Given the description of an element on the screen output the (x, y) to click on. 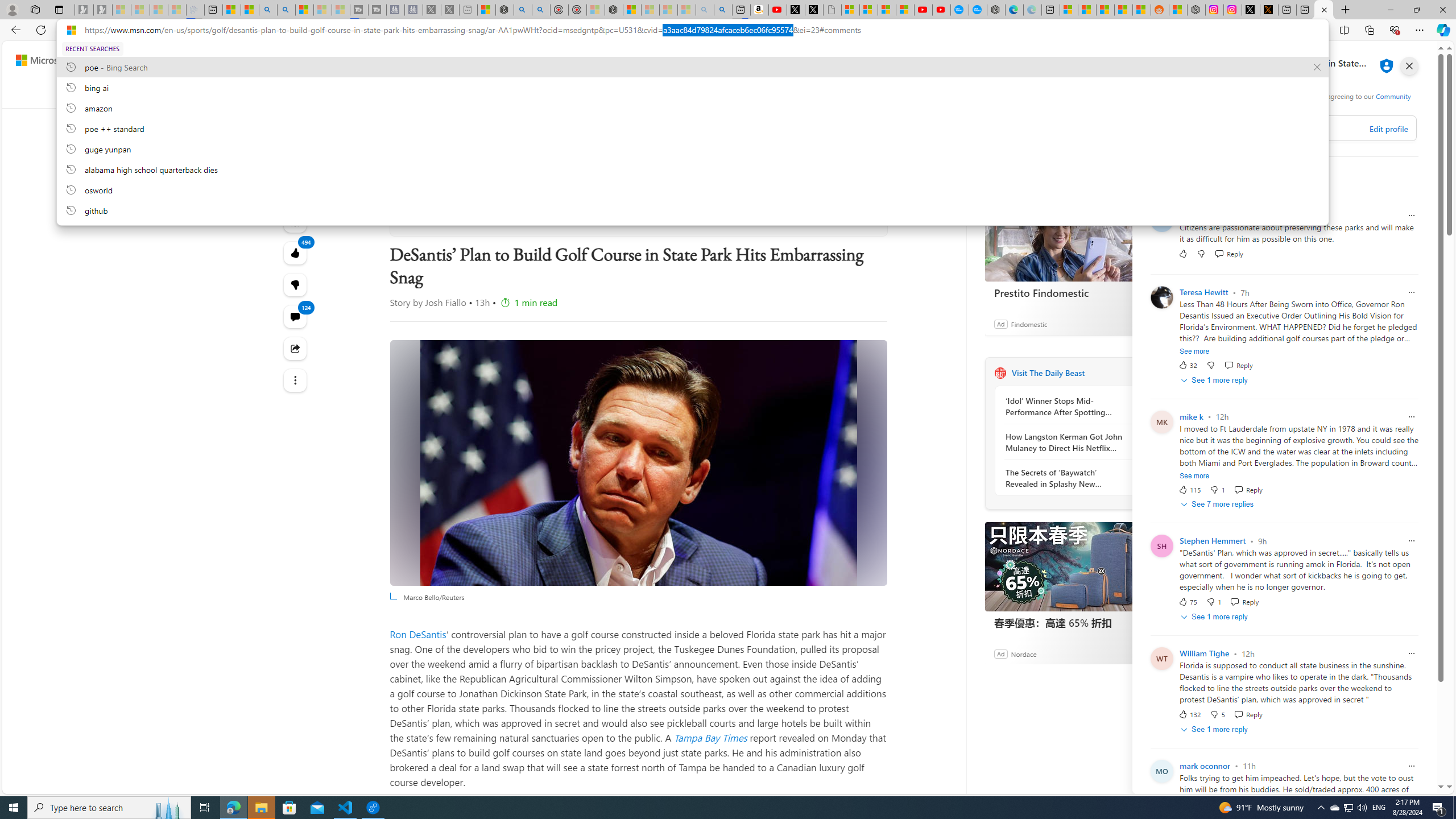
Open settings (1420, 60)
Terms of Service (1209, 104)
NBA (488, 92)
Profile Picture (1161, 770)
MLB (555, 92)
github, recent searches from history (691, 209)
Untitled (831, 9)
Shanghai, China weather forecast | Microsoft Weather (1086, 9)
NCAA WBK (1020, 92)
